Given the description of an element on the screen output the (x, y) to click on. 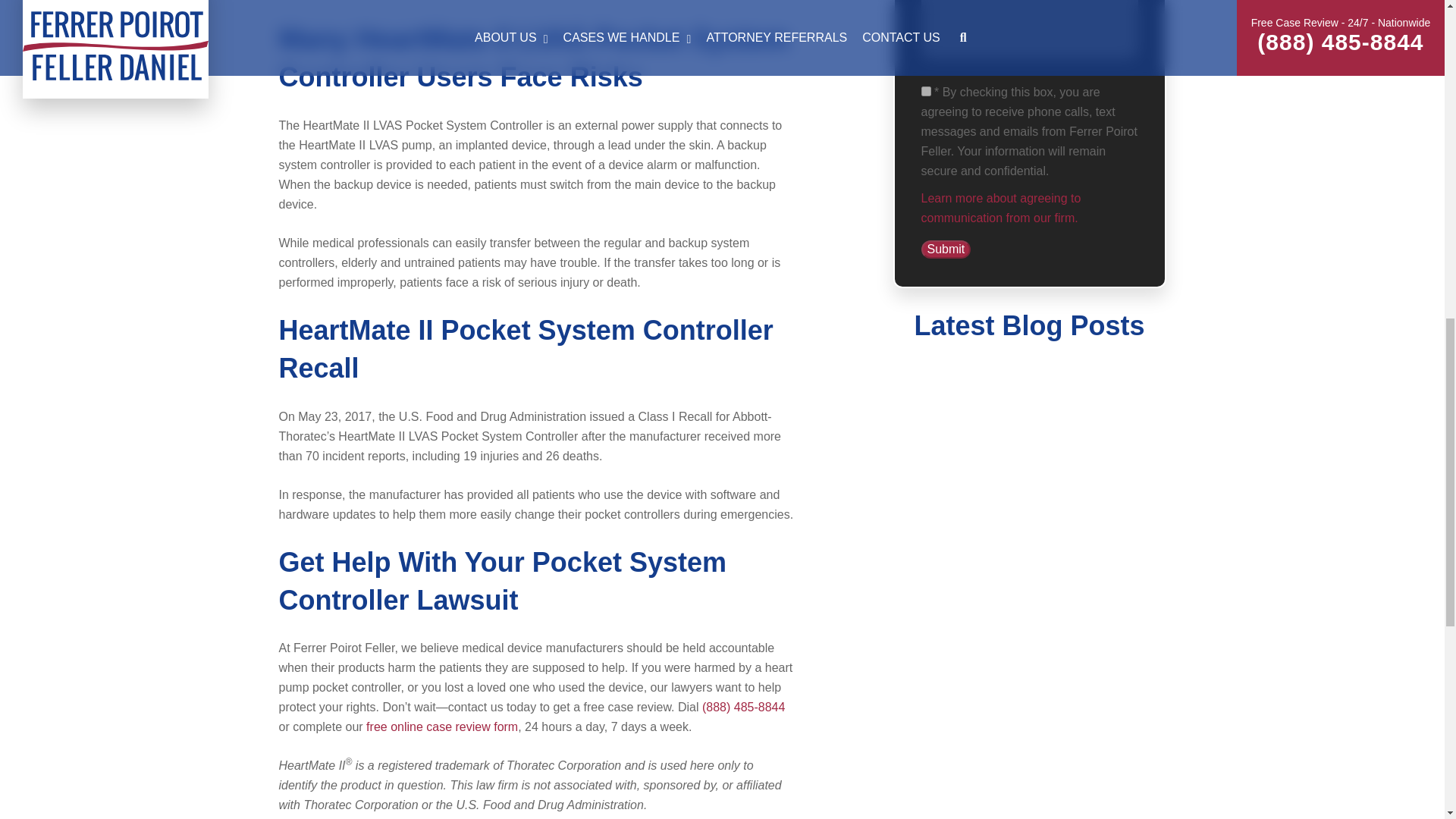
Submit (945, 249)
1 (925, 91)
Learn more about agreeing to communication from our firm. (1000, 207)
Submit (945, 249)
